Given the description of an element on the screen output the (x, y) to click on. 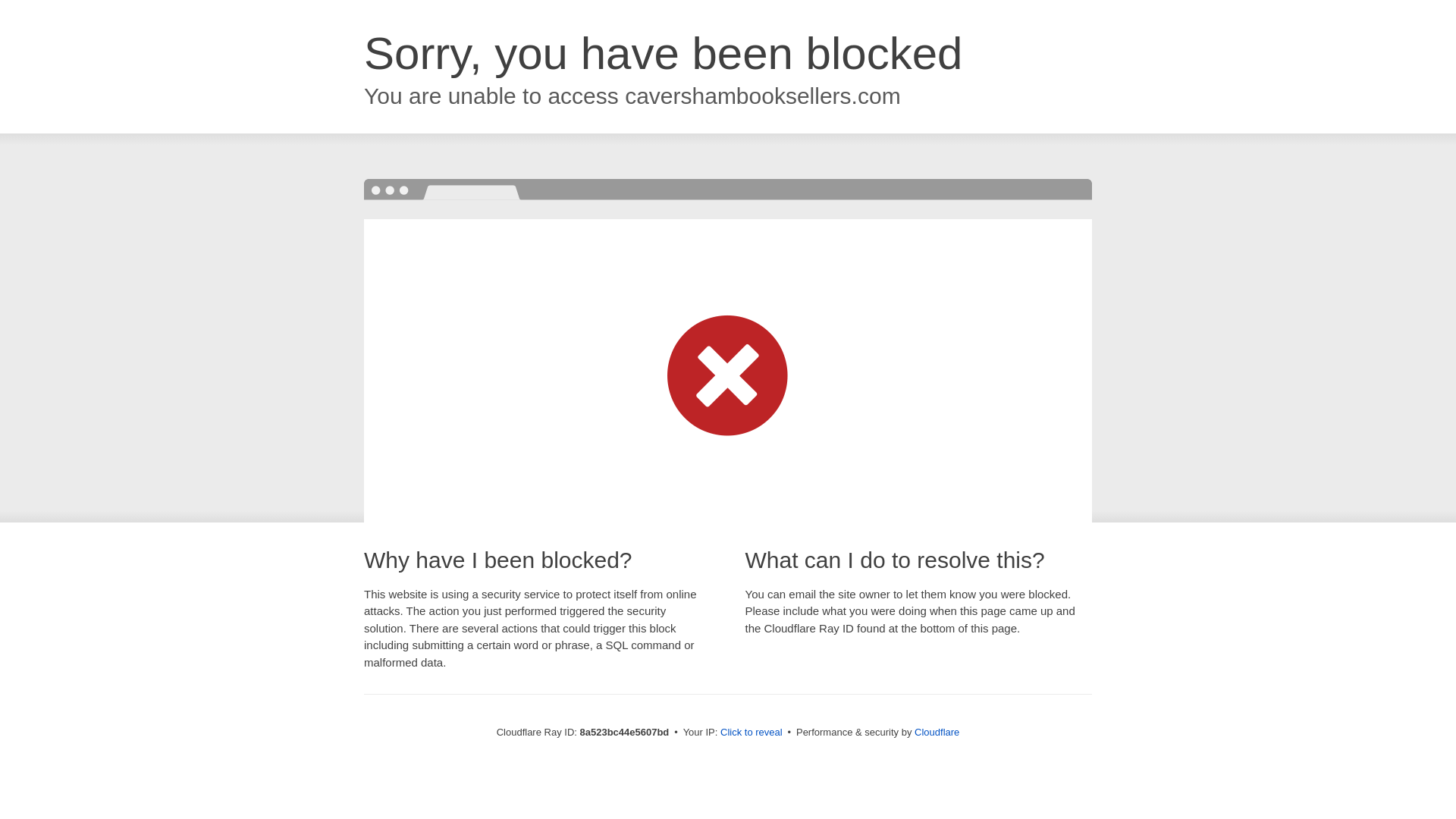
Cloudflare (936, 731)
Click to reveal (751, 732)
